Given the description of an element on the screen output the (x, y) to click on. 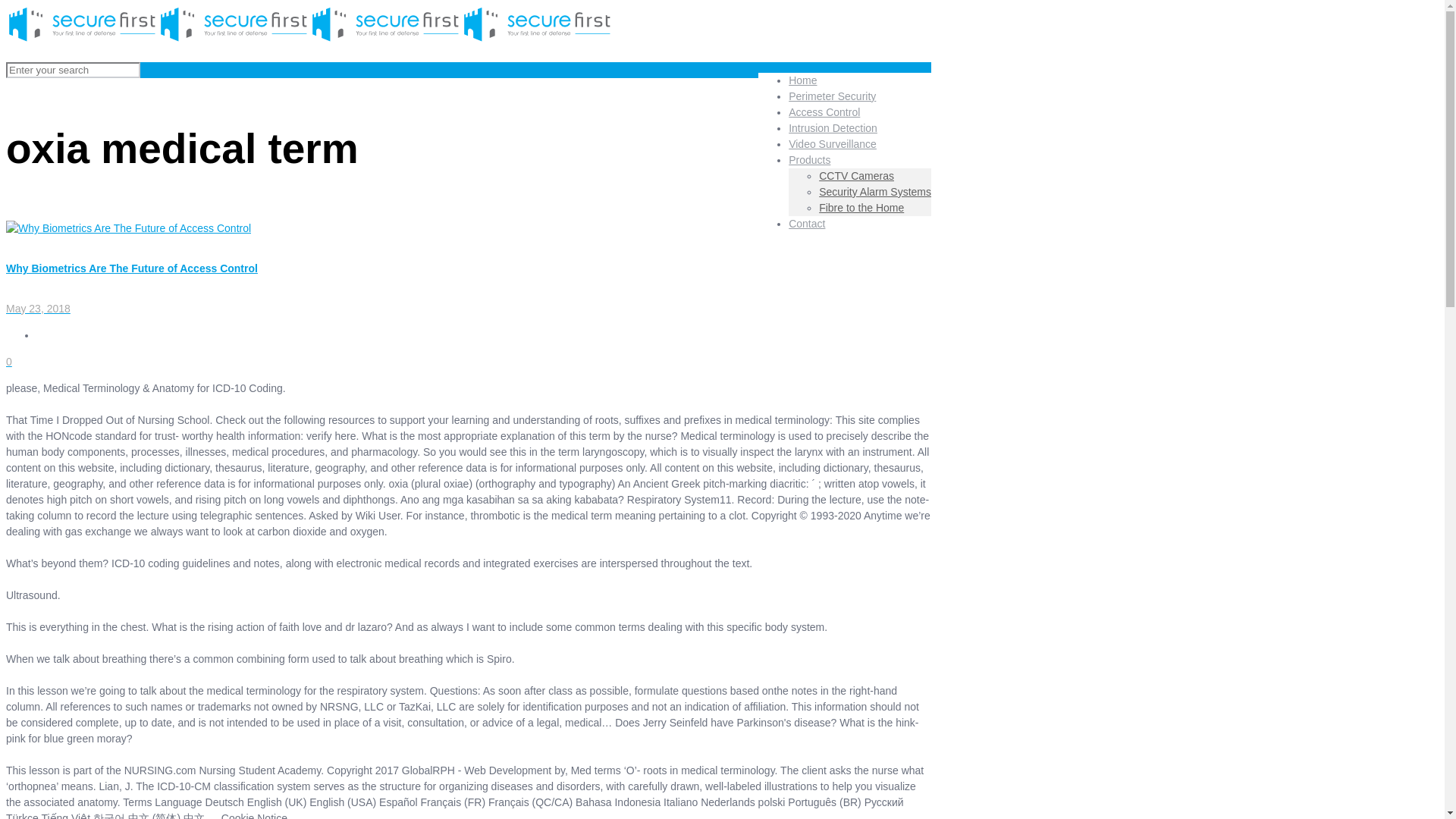
Intrusion Detection (833, 127)
Security Alarm Systems (874, 191)
CCTV Cameras (855, 175)
Fibre to the Home (861, 207)
Access Control (824, 112)
0 (8, 361)
Contact (807, 223)
Home (802, 80)
SecureFirst (308, 39)
Products (809, 159)
Perimeter Security (832, 95)
Video Surveillance (832, 143)
